Given the description of an element on the screen output the (x, y) to click on. 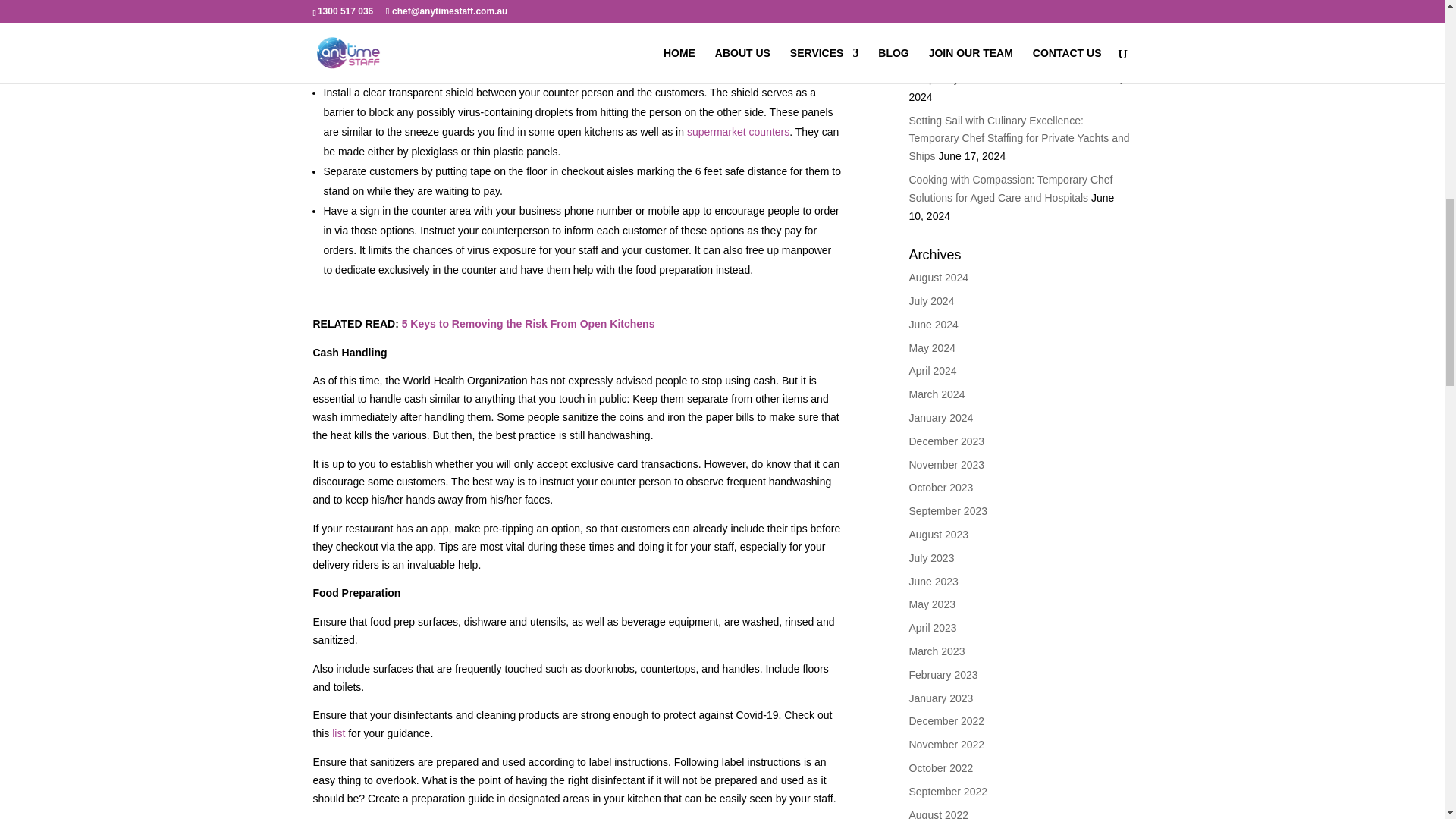
list (338, 733)
supermarket counters (738, 132)
5 Keys to Removing the Risk From Open Kitchens (528, 323)
